Given the description of an element on the screen output the (x, y) to click on. 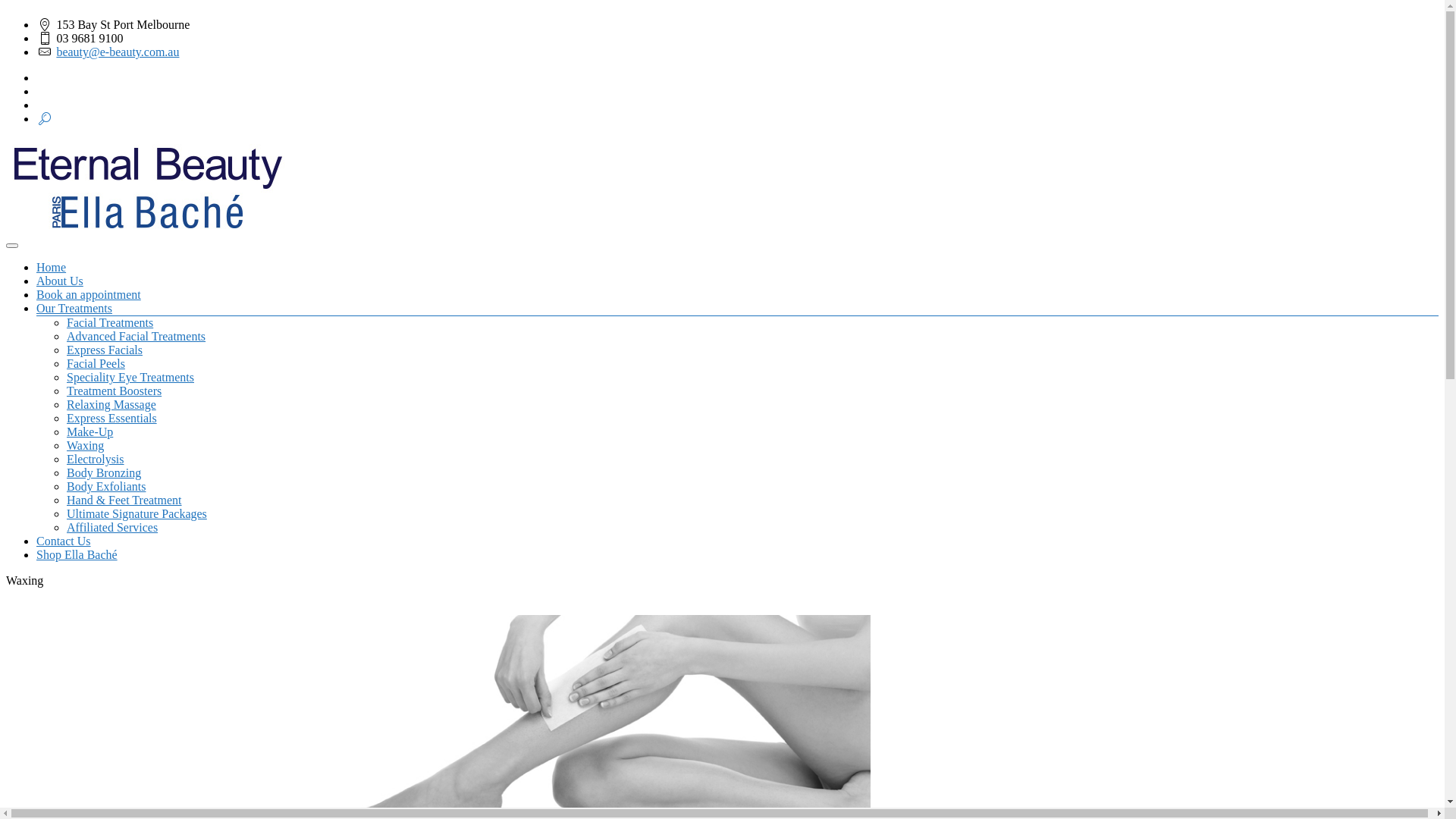
Hand & Feet Treatment Element type: text (124, 499)
Make-Up Element type: text (89, 431)
Ultimate Signature Packages Element type: text (136, 513)
Contact Us Element type: text (63, 540)
Body Exfoliants Element type: text (105, 486)
beauty@e-beauty.com.au Element type: text (117, 51)
Advanced Facial Treatments Element type: text (135, 335)
Facial Treatments Element type: text (109, 322)
Waxing Element type: text (84, 445)
Electrolysis Element type: text (95, 458)
Facial Peels Element type: text (95, 363)
Body Bronzing Element type: text (103, 472)
Speciality Eye Treatments Element type: text (130, 376)
Relaxing Massage Element type: text (111, 404)
Affiliated Services Element type: text (111, 526)
Book an appointment Element type: text (88, 294)
Our Treatments Element type: text (74, 307)
Express Essentials Element type: text (111, 417)
About Us Element type: text (59, 280)
Treatment Boosters Element type: text (113, 390)
Express Facials Element type: text (104, 349)
Home Element type: text (50, 266)
